Given the description of an element on the screen output the (x, y) to click on. 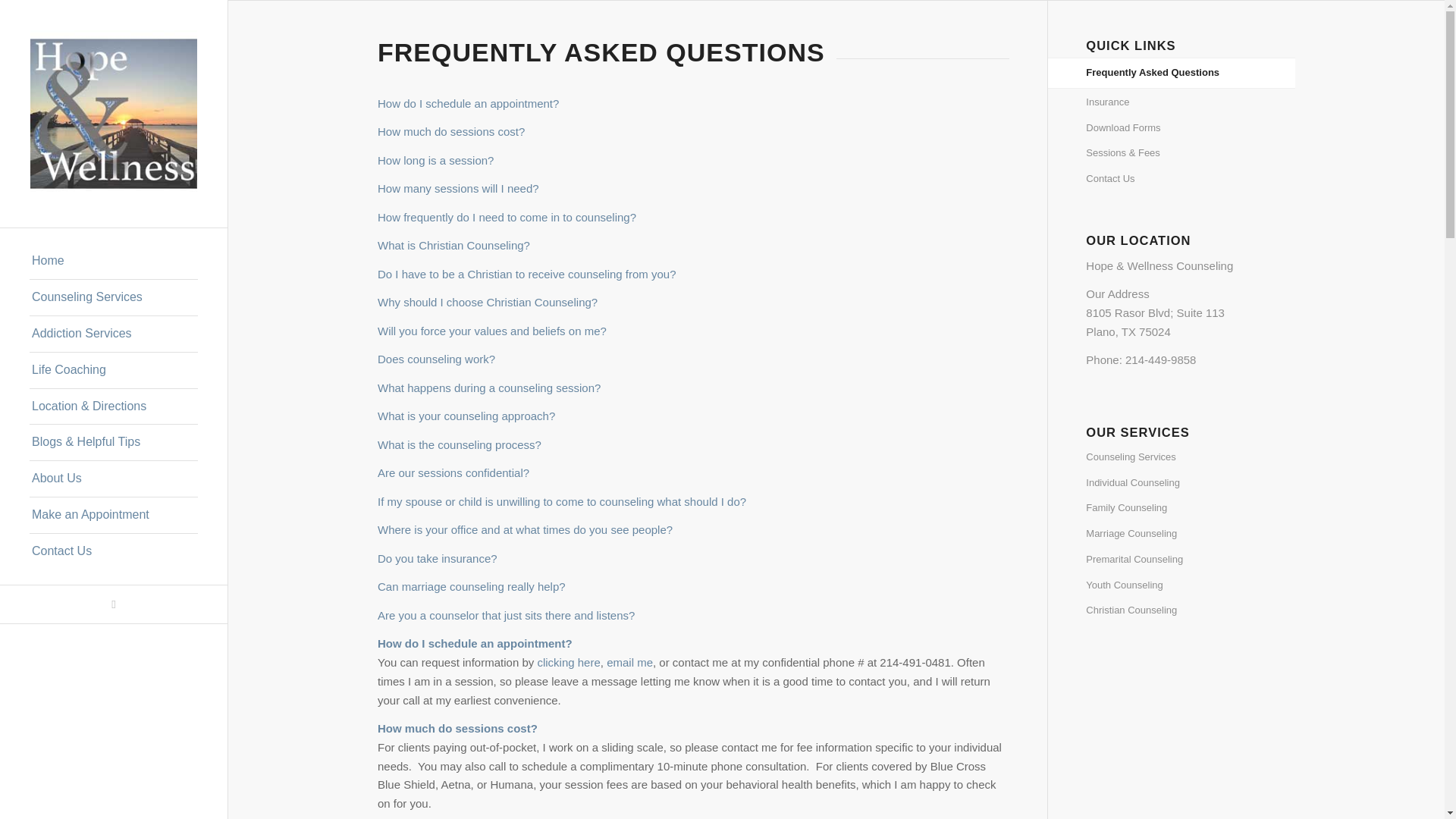
Make an Appointment (113, 515)
What is the counseling process? (459, 444)
Facebook (113, 604)
Life Coaching (113, 370)
What is your counseling approach? (465, 415)
Why should I choose Christian Counseling? (486, 301)
How do I schedule an appointment? (468, 103)
What happens during a counseling session? (488, 387)
How do I schedule an appointment? (468, 103)
Do I have to be a Christian to receive counseling from you? (527, 273)
Where is your office and at what times do you see people? (524, 529)
Does counseling work? (436, 358)
Will you force your values and beliefs on me? (492, 330)
Home (113, 261)
How many sessions will I need? (457, 187)
